Given the description of an element on the screen output the (x, y) to click on. 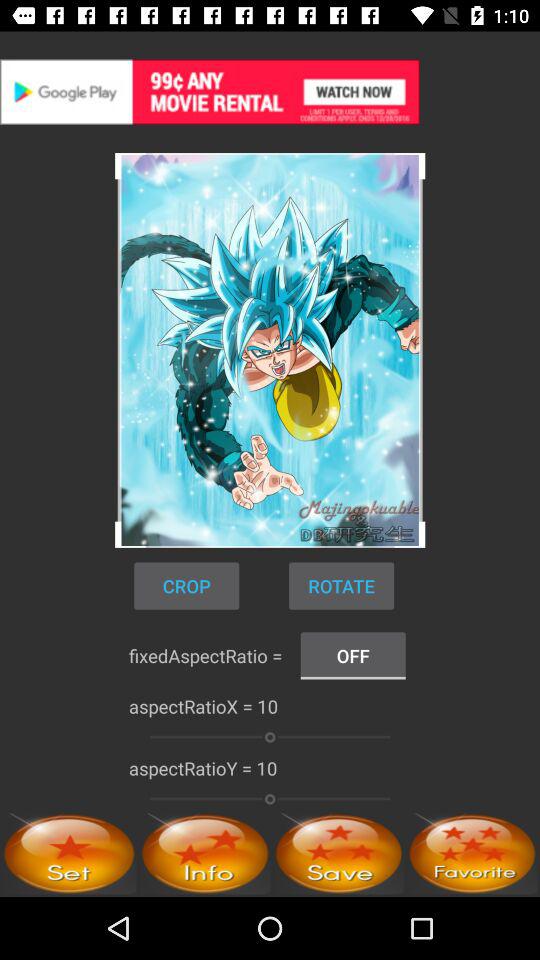
go to rating (338, 853)
